Given the description of an element on the screen output the (x, y) to click on. 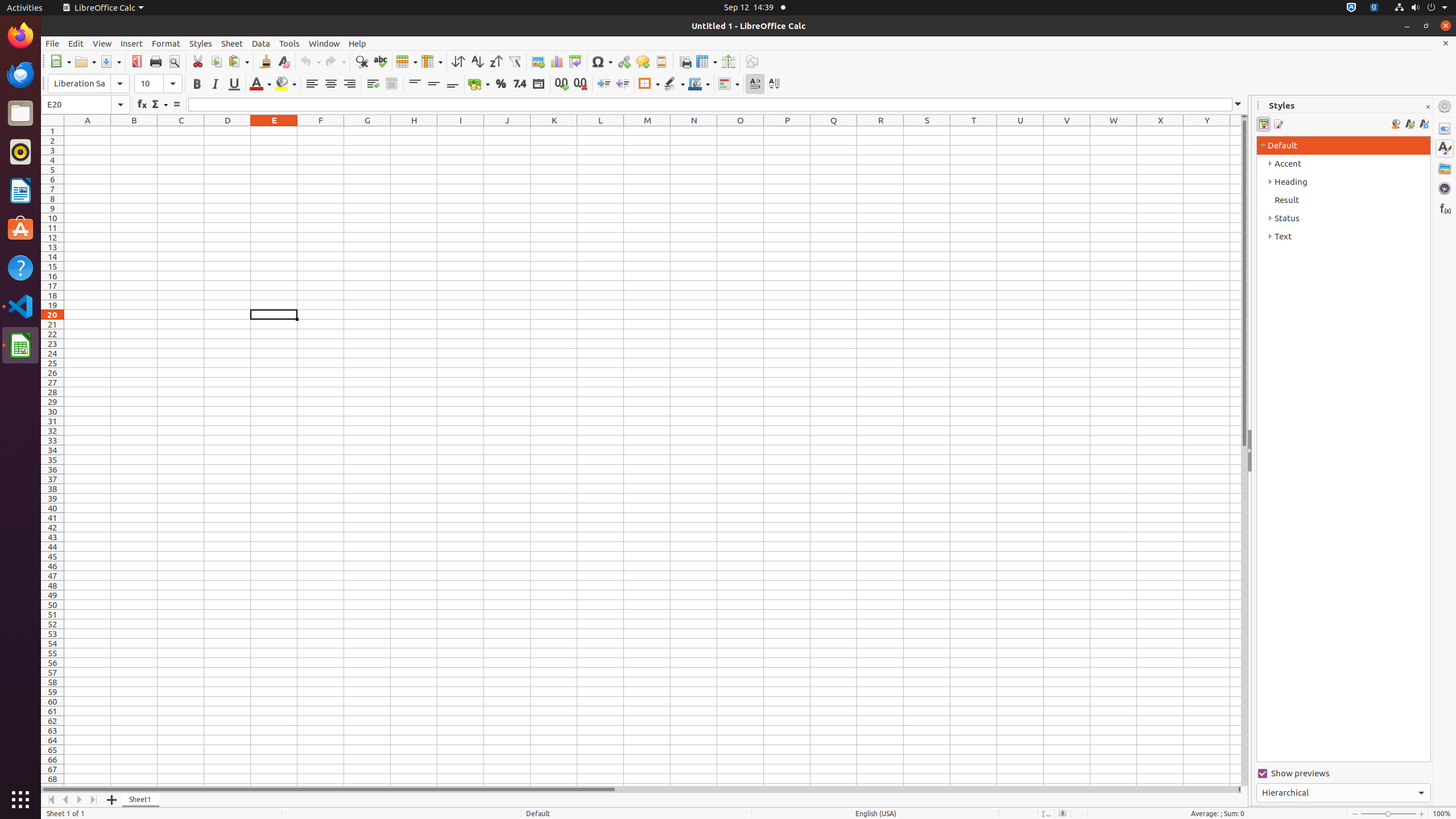
Styles Element type: menu (200, 43)
Update Style Element type: push-button (1423, 123)
Show previews Element type: check-box (1343, 773)
Page Styles Element type: push-button (1277, 123)
Visual Studio Code Element type: push-button (20, 306)
